Given the description of an element on the screen output the (x, y) to click on. 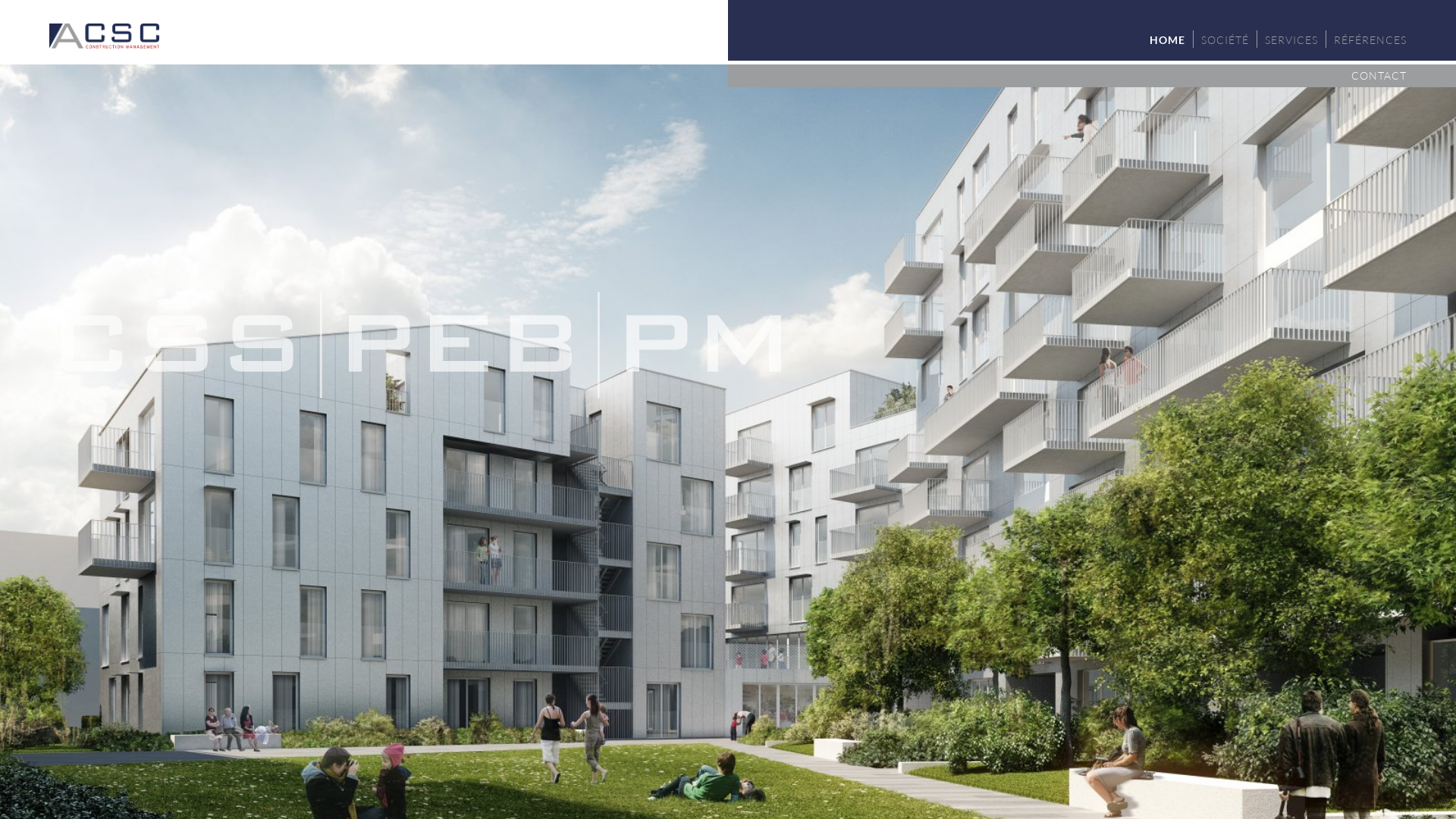
SERVICES Element type: text (1290, 39)
HOME Element type: text (1167, 39)
Aller au contenu principal Element type: text (62, 0)
